Given the description of an element on the screen output the (x, y) to click on. 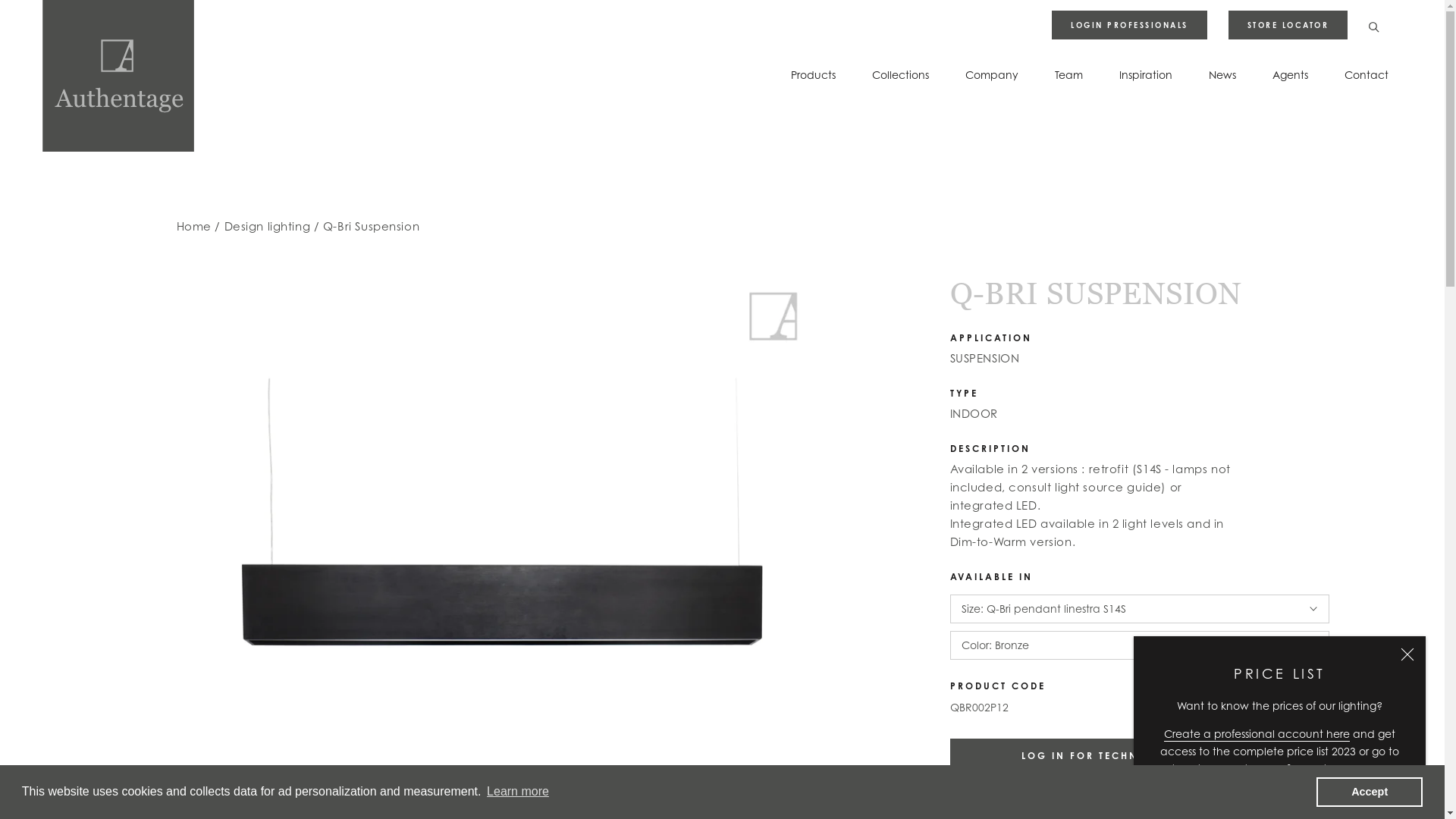
Inspiration
Inspiration Element type: text (1145, 74)
Design lighting Element type: text (267, 226)
Agents
Agents Element type: text (1290, 74)
Contact
Contact Element type: text (1366, 74)
Store locator and find a store nearby Element type: text (1288, 768)
Size: Q-Bri pendant linestra S14S Element type: text (1138, 608)
STORE LOCATOR Element type: text (1288, 24)
LOG IN FOR TECHNICAL INFORMATION Element type: text (1138, 755)
Collections
Collections Element type: text (900, 74)
Q-Bri Suspension Element type: text (371, 226)
Products
Products Element type: text (812, 74)
Company
Company Element type: text (991, 74)
Accept Element type: text (1369, 791)
Learn more Element type: text (517, 791)
News
News Element type: text (1222, 74)
Color: Bronze Element type: text (1138, 644)
Create a professional account here Element type: text (1256, 733)
LOGIN PROFESSIONALS Element type: text (1129, 24)
Team
Team Element type: text (1068, 74)
Home Element type: text (192, 226)
